Given the description of an element on the screen output the (x, y) to click on. 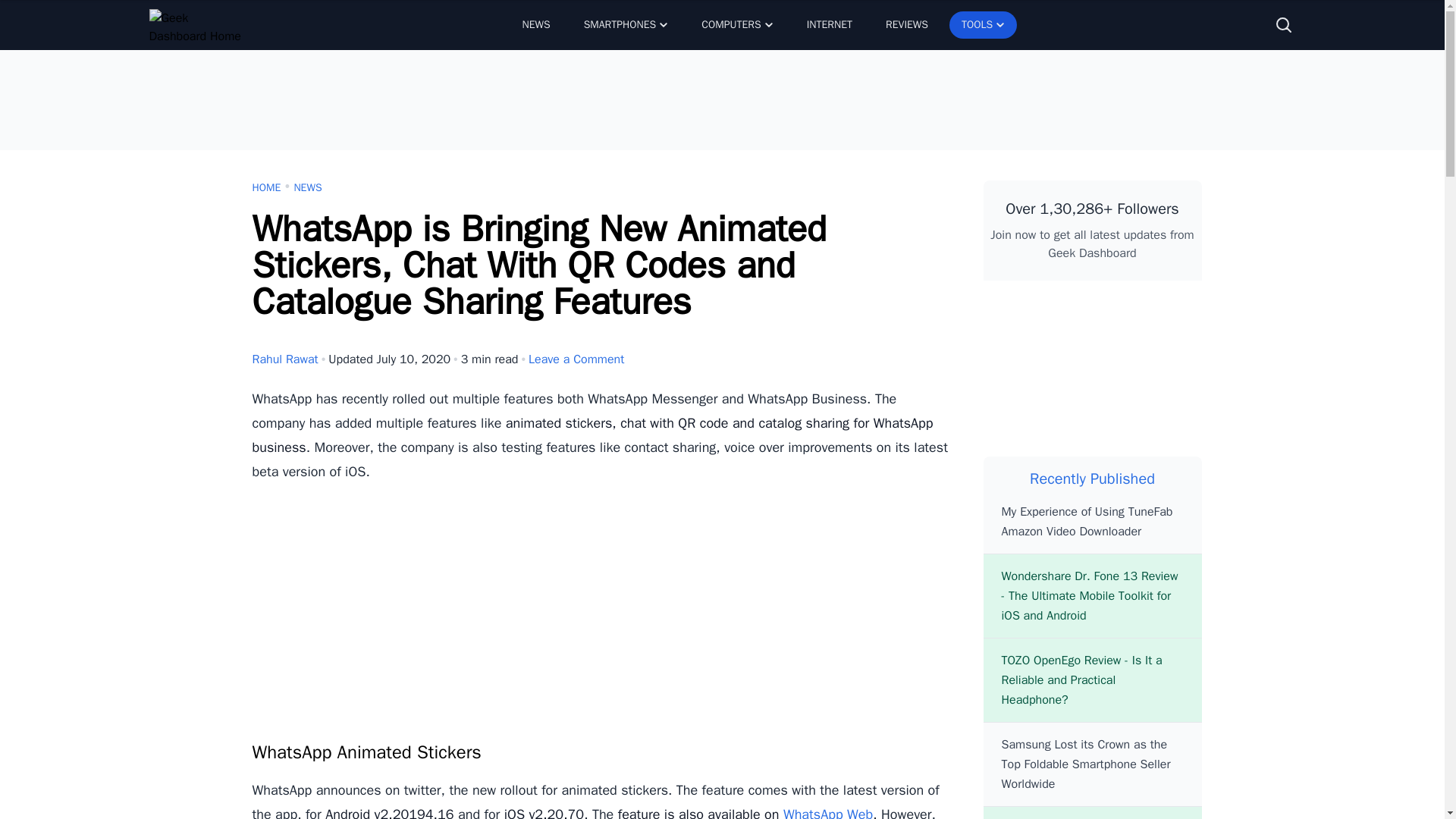
Rahul Rawat (284, 359)
INTERNET (829, 24)
REVIEWS (906, 24)
Join Geek Dashboard Telegram Channel (1164, 311)
NEWS (535, 24)
Follow Geek Dashboard on Instagram (1164, 375)
COMPUTERS (736, 24)
Follow Geek Dashbaord on Twitter (1091, 311)
NEWS (307, 187)
TOOLS (982, 24)
